Given the description of an element on the screen output the (x, y) to click on. 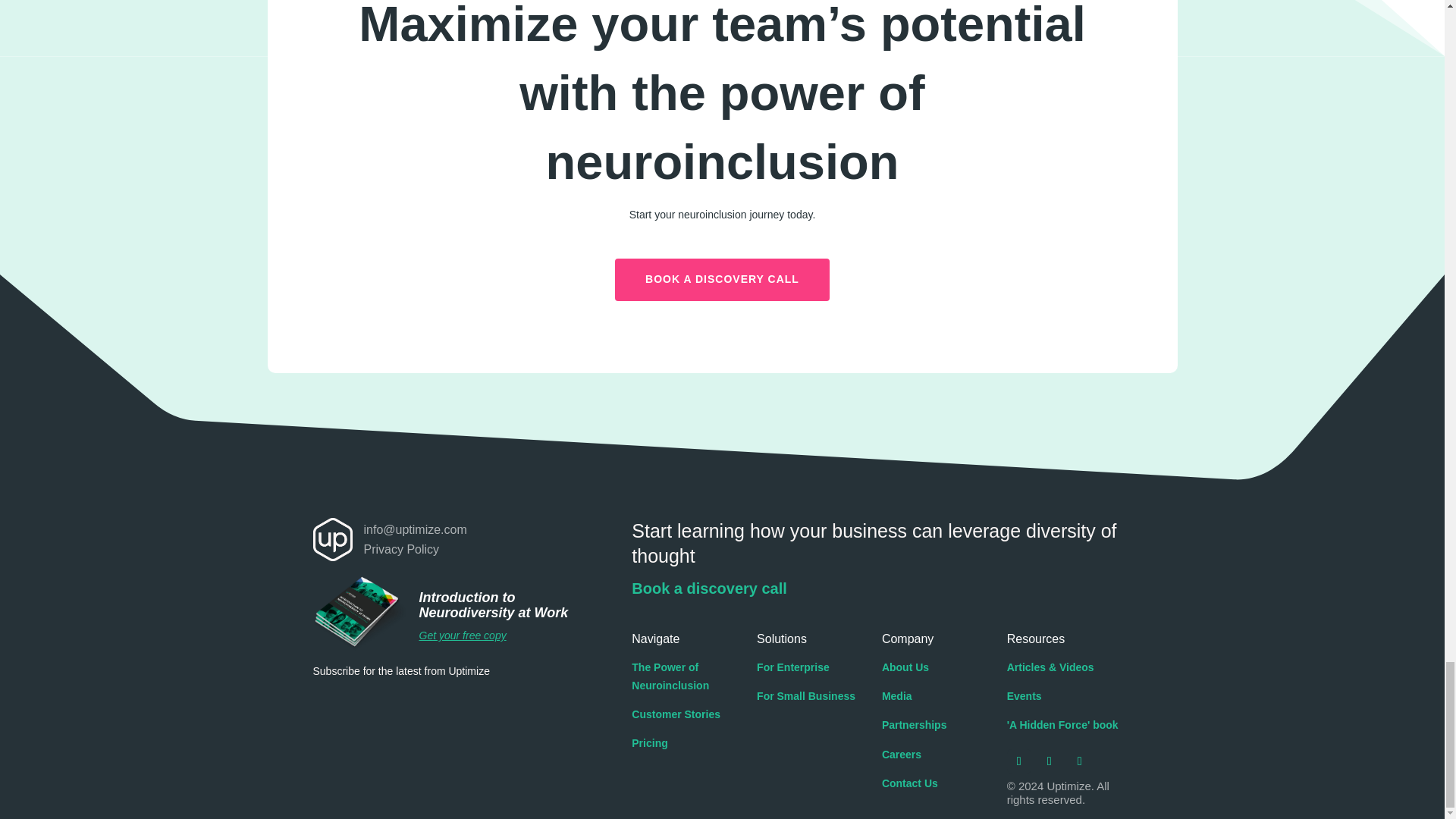
Follow on X (1048, 761)
Follow on LinkedIn (1018, 761)
Follow on Youtube (1079, 761)
Form 0 (415, 730)
